Given the description of an element on the screen output the (x, y) to click on. 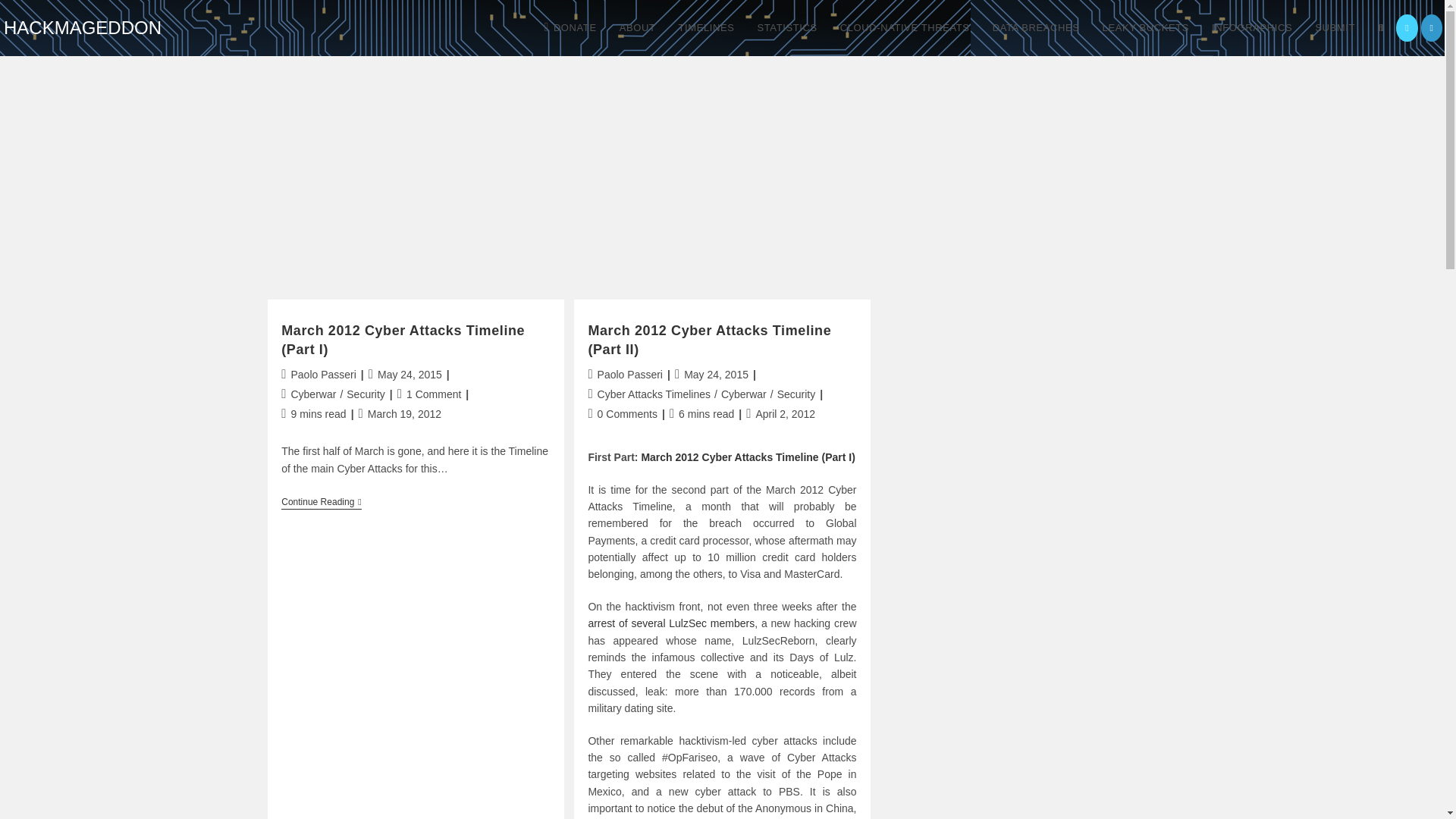
1 Comment (433, 394)
CLOUD-NATIVE THREATS (904, 28)
INFOGRAPHICS (1251, 28)
Security (796, 394)
Security (365, 394)
Cyber Attacks Timelines (653, 394)
TIMELINES (705, 28)
Cyberwar (312, 394)
LEAKY BUCKETS (1145, 28)
